Given the description of an element on the screen output the (x, y) to click on. 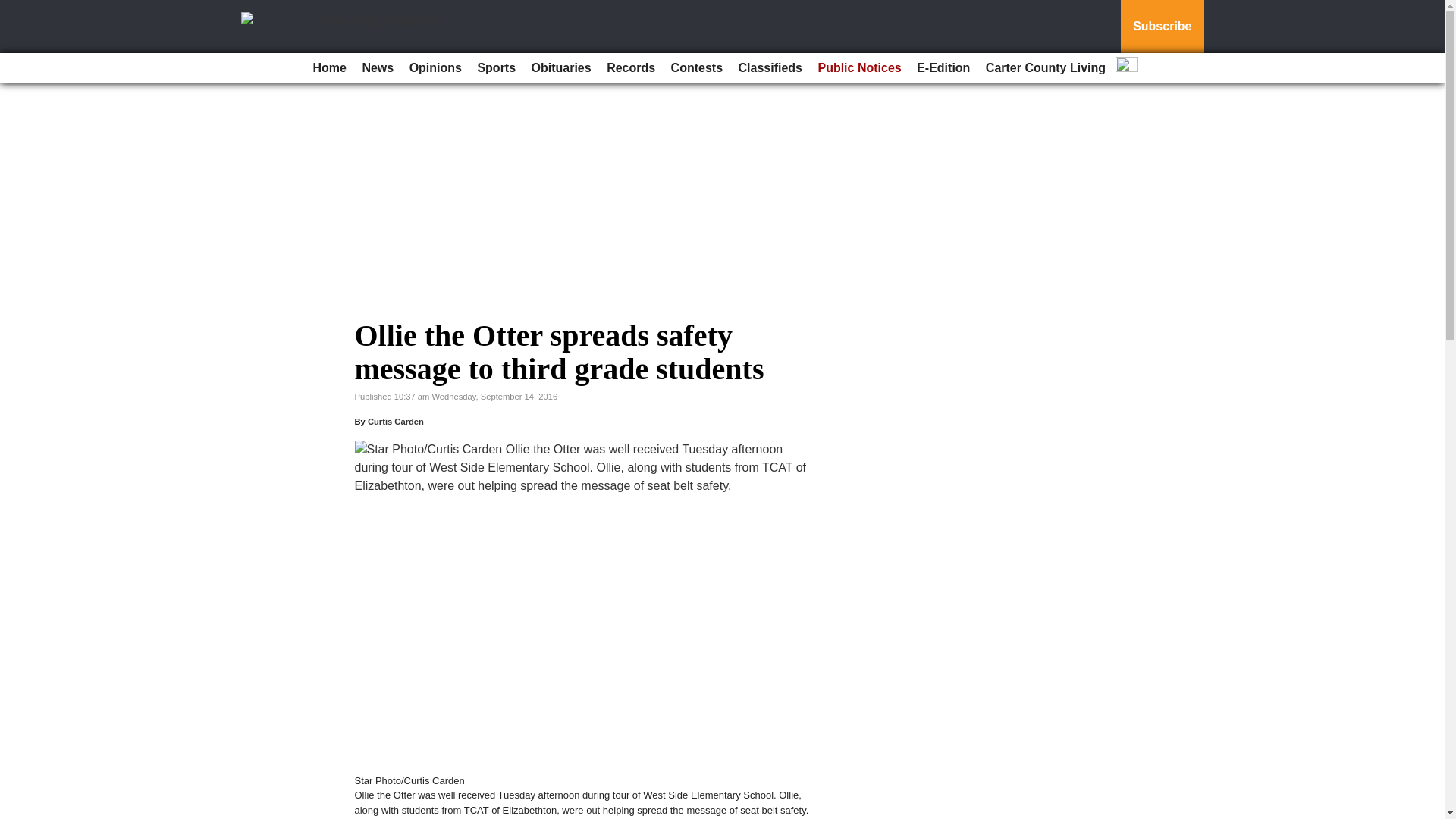
Classifieds (770, 68)
Go (13, 9)
Home (328, 68)
Public Notices (858, 68)
Carter County Living (1045, 68)
Obituaries (560, 68)
E-Edition (943, 68)
Curtis Carden (395, 420)
Sports (495, 68)
Subscribe (1162, 26)
